Given the description of an element on the screen output the (x, y) to click on. 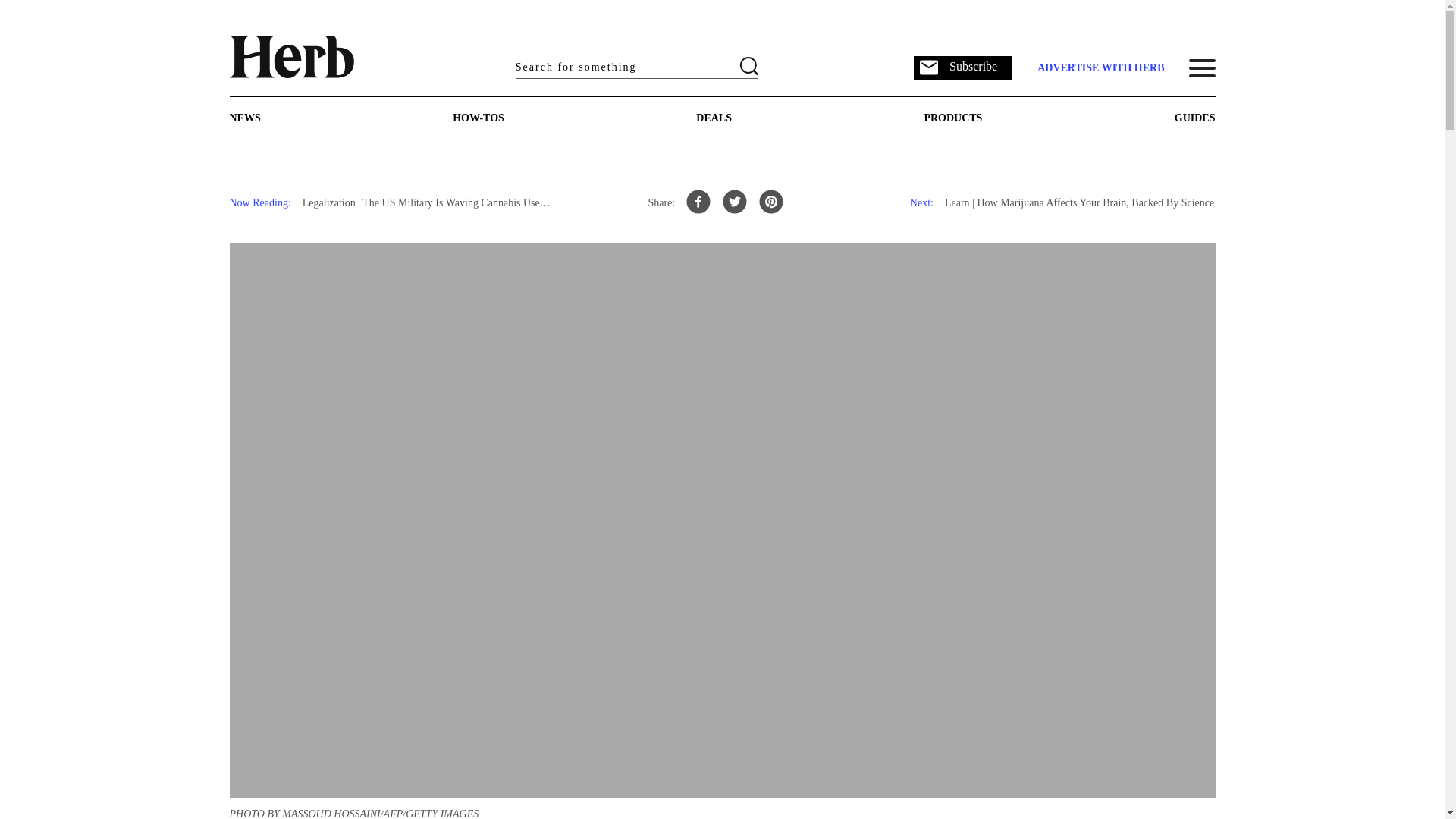
Subscribe (962, 67)
ADVERTISE WITH HERB (1099, 68)
